Given the description of an element on the screen output the (x, y) to click on. 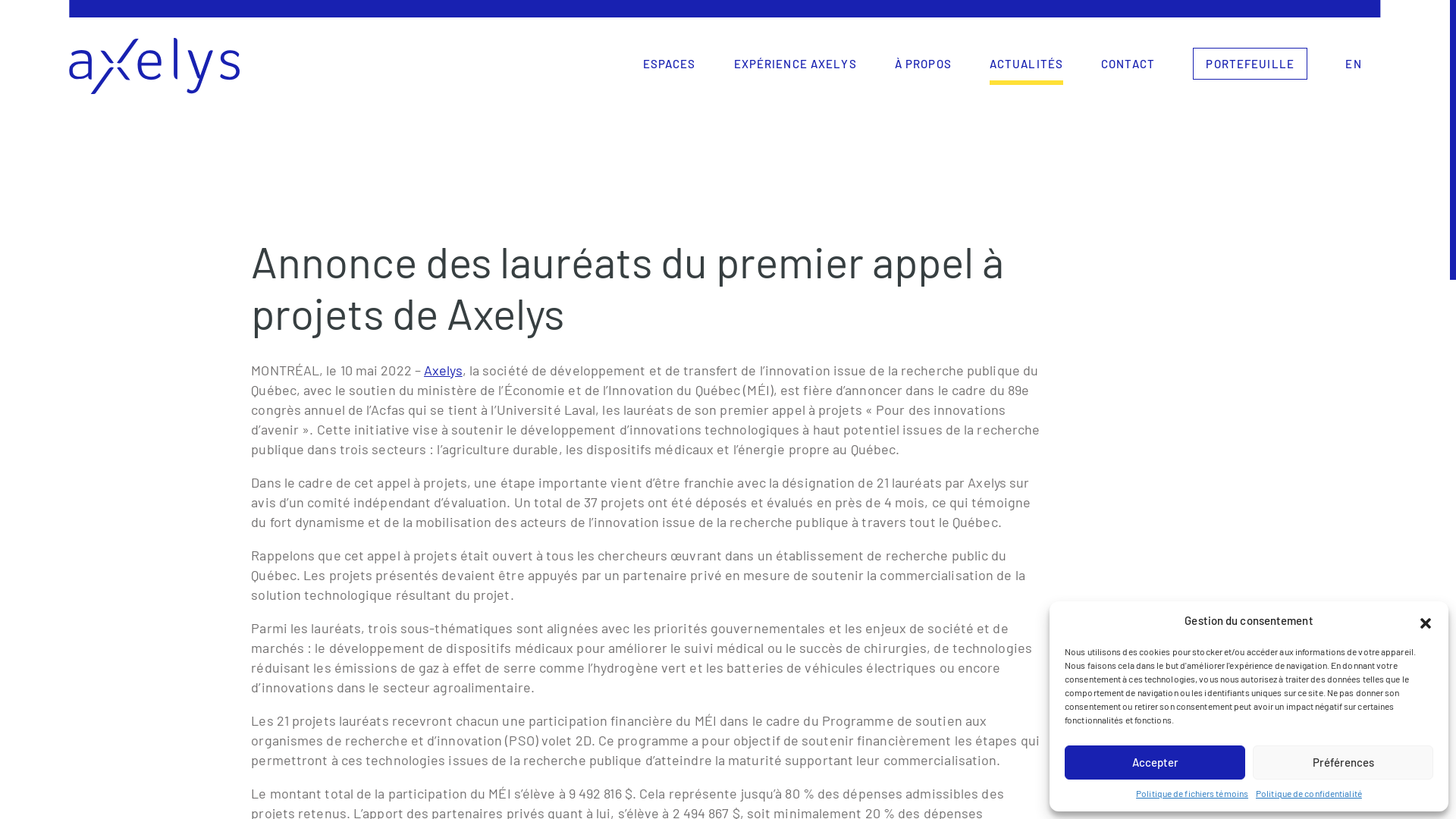
PORTEFEUILLE Element type: text (1249, 63)
Axelys Element type: text (442, 368)
Accepter Element type: text (1154, 762)
EN Element type: text (1353, 63)
ESPACES Element type: text (669, 63)
CONTACT Element type: text (1127, 63)
